Given the description of an element on the screen output the (x, y) to click on. 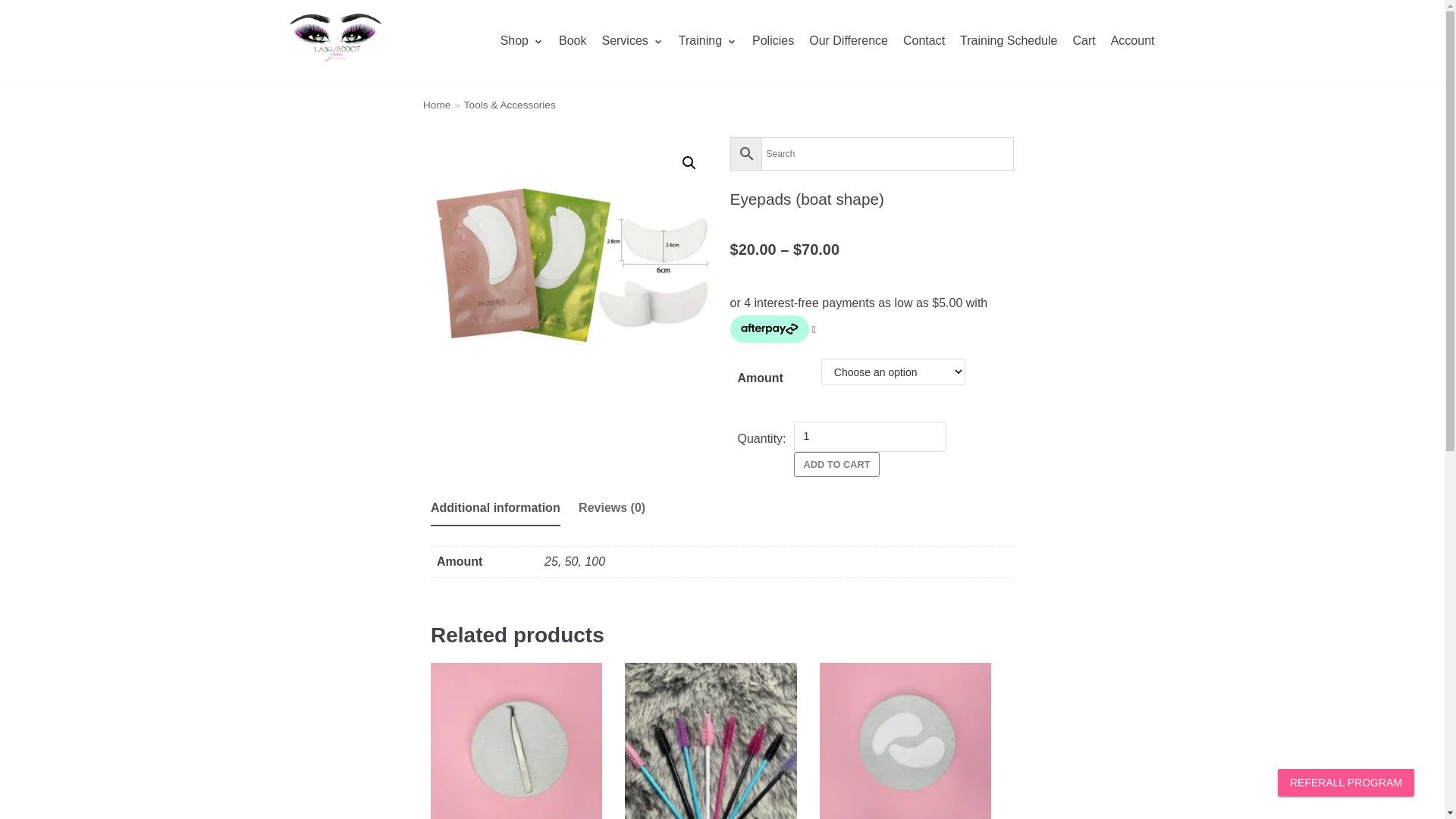
Tools & Accessories Element type: text (509, 104)
Additional information Element type: text (495, 508)
Training Schedule Element type: text (1008, 41)
Services Element type: text (631, 41)
Policies Element type: text (772, 41)
Account Element type: text (1132, 41)
Our Difference Element type: text (848, 41)
ADD TO CART Element type: text (836, 463)
REFERALL PROGRAM Element type: text (1345, 782)
Training Element type: text (707, 41)
Shop Element type: text (521, 41)
Home Element type: text (436, 104)
Cart Element type: text (1083, 41)
Book Element type: text (572, 41)
Contact Element type: text (923, 41)
Reviews (0) Element type: text (611, 508)
eyepads Element type: hover (572, 255)
Lash Addict Lashes Element type: hover (334, 40)
Skip to content Element type: text (15, 7)
